Given the description of an element on the screen output the (x, y) to click on. 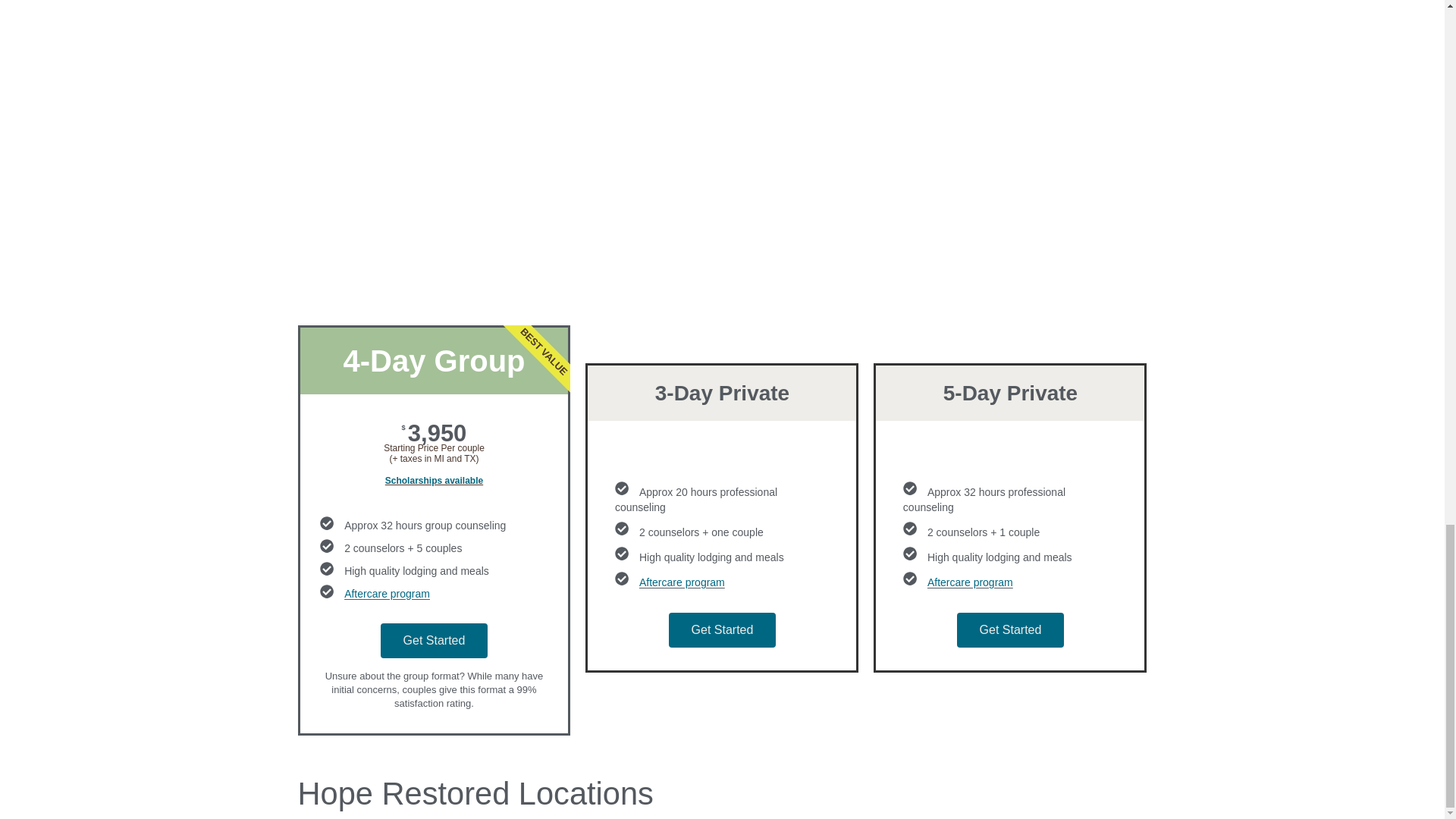
Get Started (722, 629)
Aftercare program (970, 582)
Get Started (1010, 629)
Aftercare program (386, 594)
Aftercare program (682, 582)
Scholarships available (434, 480)
Get Started (433, 640)
